Given the description of an element on the screen output the (x, y) to click on. 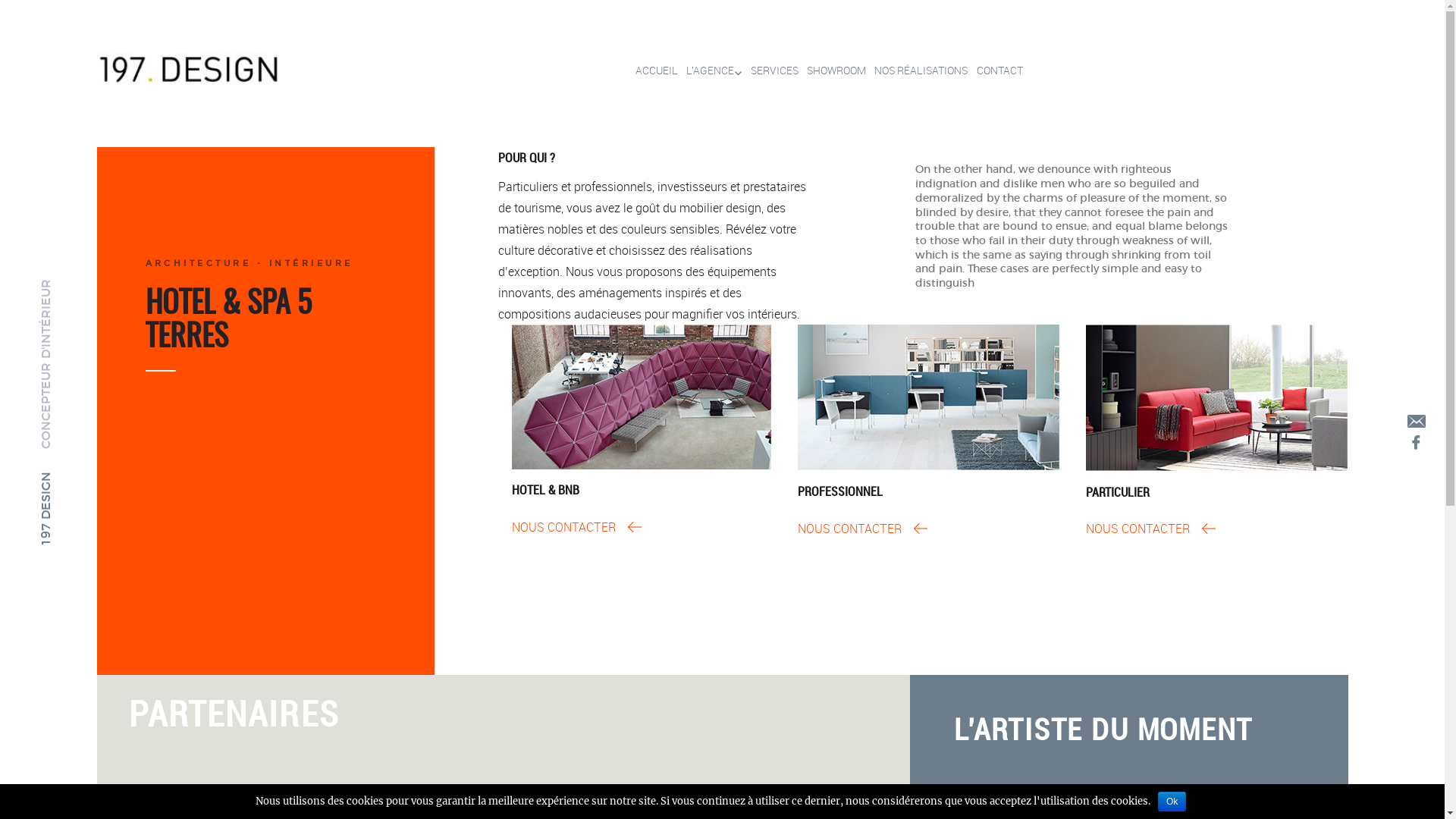
contact 197.design Element type: hover (1416, 419)
lien facebook 197.design Element type: hover (1416, 441)
ACCUEIL Element type: text (651, 70)
197-design_home_particulier Element type: hover (1216, 397)
facebook 197.design Element type: hover (1416, 442)
NOUS CONTACTER Element type: text (862, 528)
CONTACT Element type: text (994, 70)
NOUS CONTACTER Element type: text (1150, 528)
NOUS CONTACTER Element type: text (576, 526)
SHOWROOM Element type: text (832, 70)
197-design_home_professionnel Element type: hover (928, 397)
SERVICES Element type: text (770, 70)
Ok Element type: text (1171, 801)
197-design_home_hotel Element type: hover (641, 396)
contact 197.design Element type: hover (1416, 420)
